Given the description of an element on the screen output the (x, y) to click on. 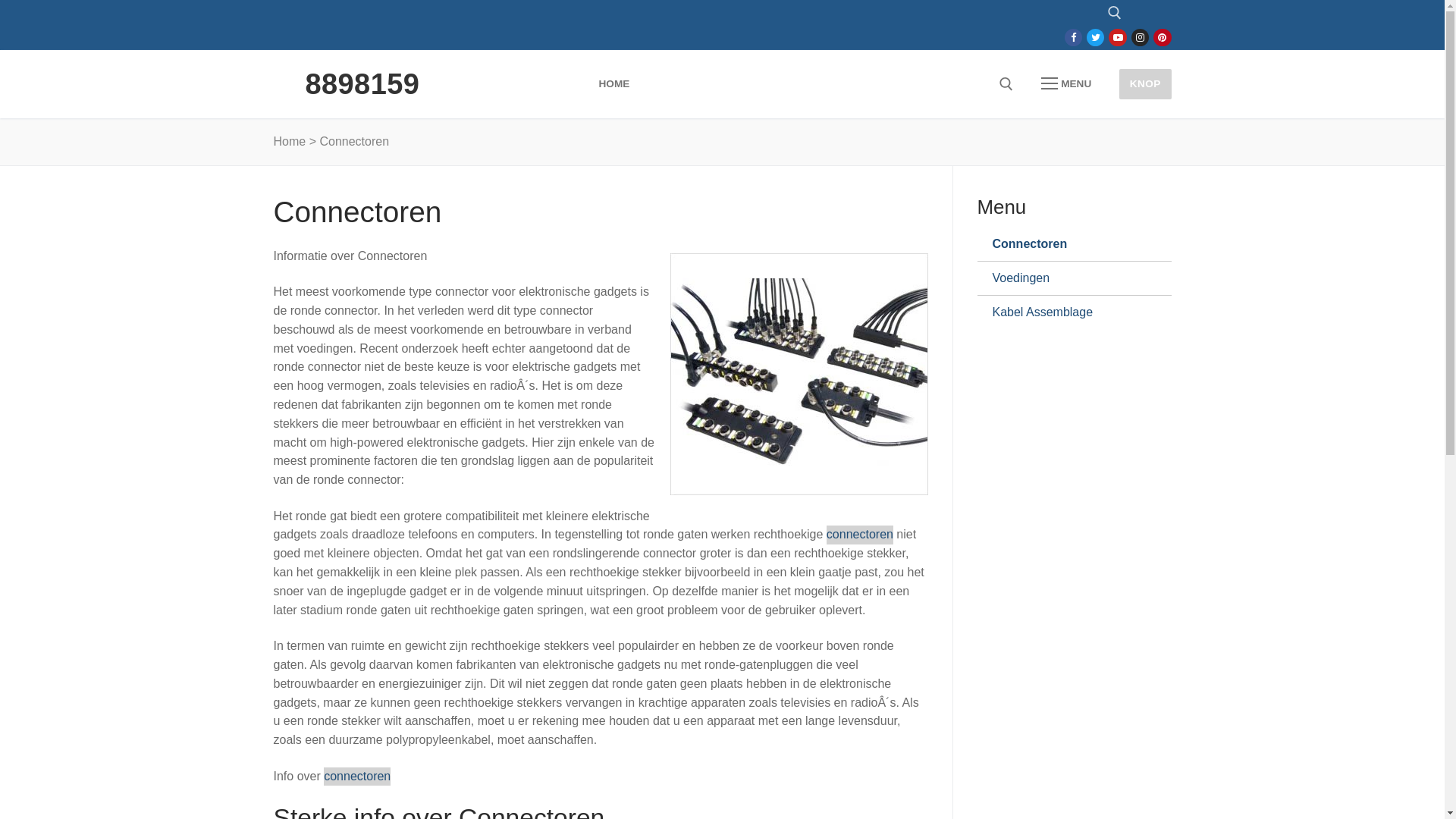
KNOP Element type: text (1144, 83)
Twitter Element type: hover (1095, 37)
Youtube Element type: hover (1118, 37)
Doorgaan naar inhoud Element type: text (0, 0)
Pinterest Element type: hover (1162, 37)
Facebook Element type: hover (1073, 37)
Voedingen Element type: text (1067, 277)
Kabel Assemblage Element type: text (1067, 312)
connectoren Element type: text (356, 776)
Connectoren Element type: text (1067, 243)
8898159 Element type: text (361, 83)
HOME Element type: text (613, 83)
Instagram Element type: hover (1140, 37)
MENU Element type: text (1066, 84)
connectoren Element type: text (859, 534)
